Given the description of an element on the screen output the (x, y) to click on. 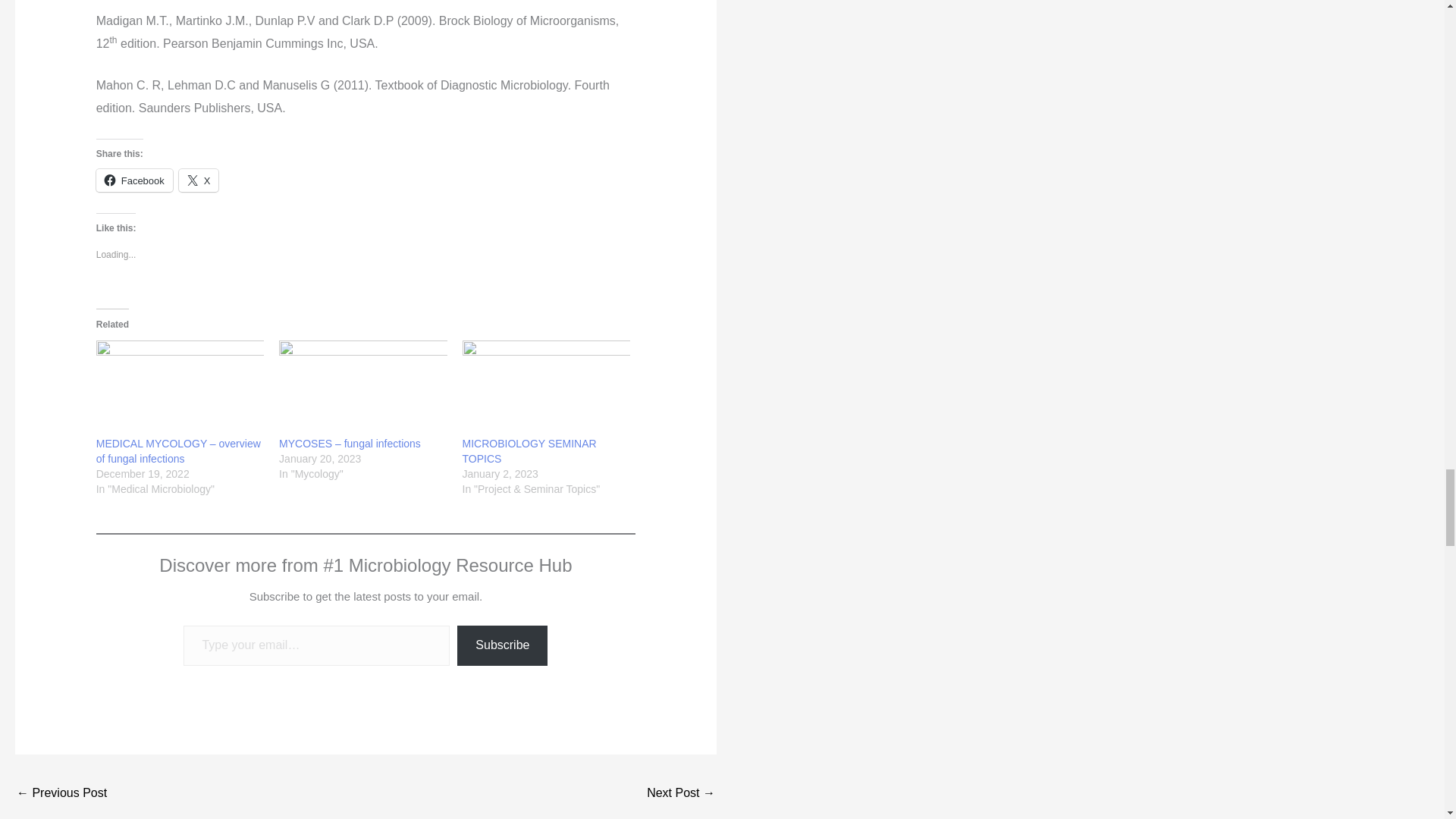
MICROBIOLOGY SEMINAR TOPICS (529, 451)
MICROBIOLOGY SEMINAR TOPICS (546, 388)
Click to share on X (199, 179)
Click to share on Facebook (134, 179)
